Given the description of an element on the screen output the (x, y) to click on. 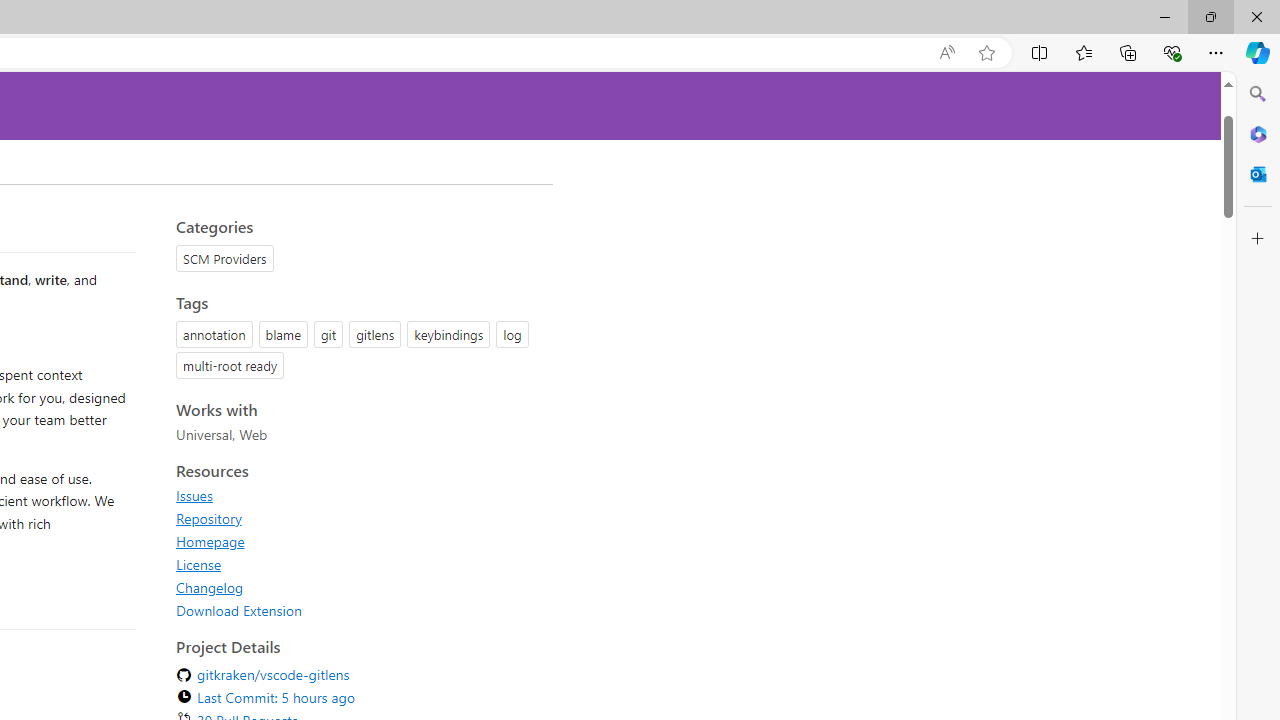
License (198, 564)
Download Extension (239, 610)
Issues (358, 495)
Issues (194, 495)
